Given the description of an element on the screen output the (x, y) to click on. 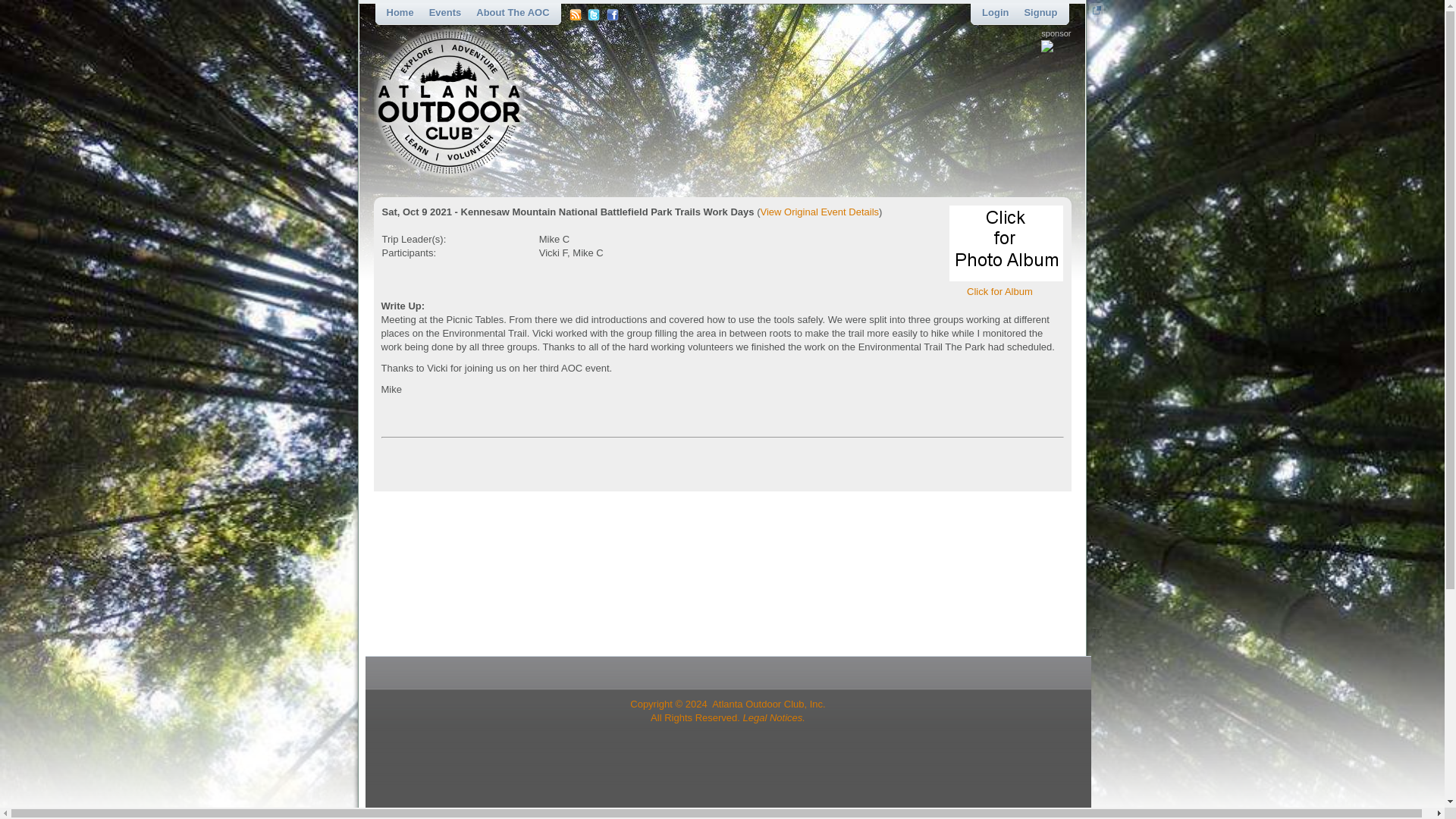
Login (995, 12)
Events (445, 12)
View Original Event Details (819, 211)
Home (400, 12)
About The AOC (512, 12)
Click for Album (999, 284)
Signup (1040, 12)
